Given the description of an element on the screen output the (x, y) to click on. 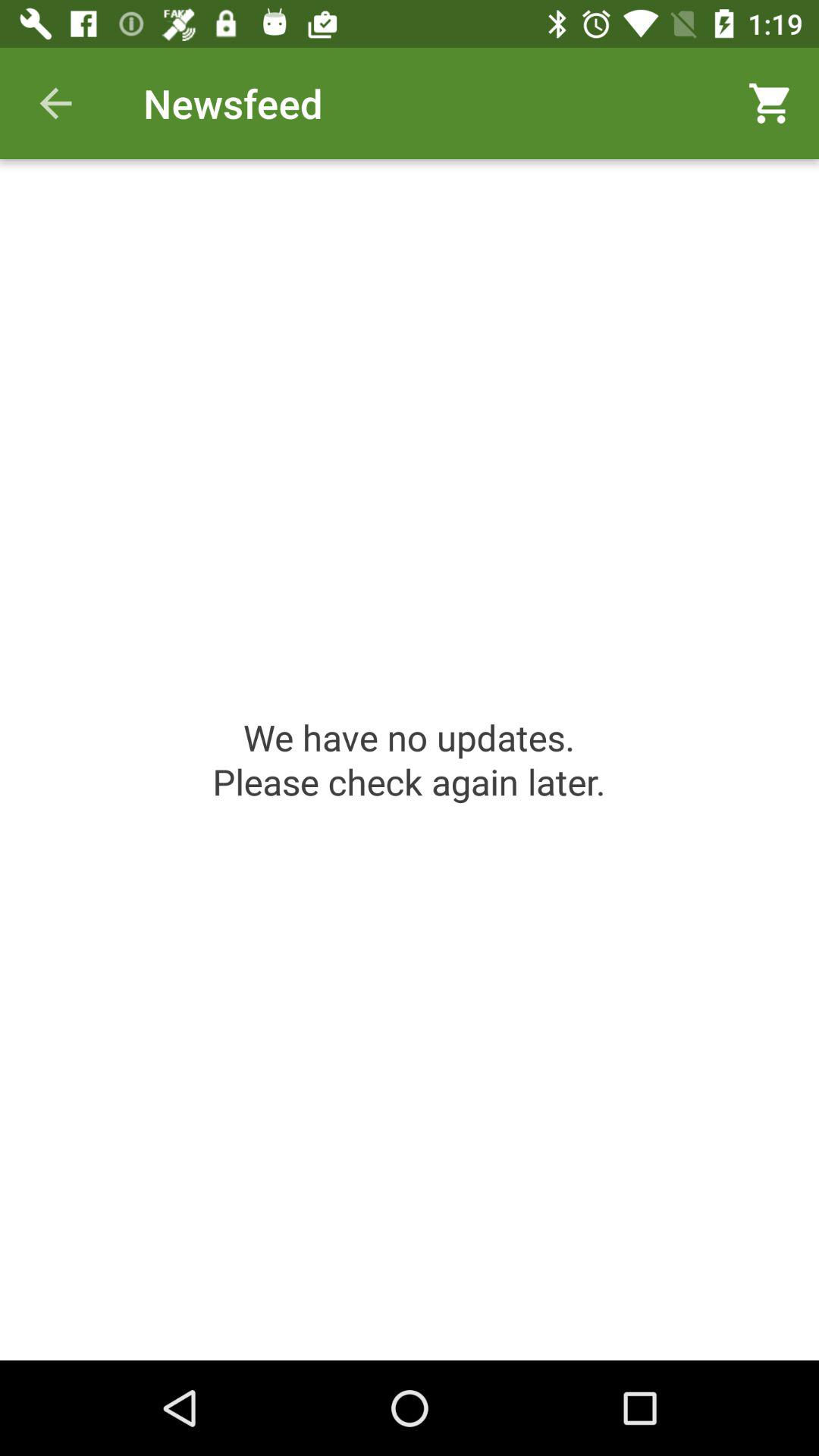
turn on icon to the left of newsfeed icon (55, 103)
